Given the description of an element on the screen output the (x, y) to click on. 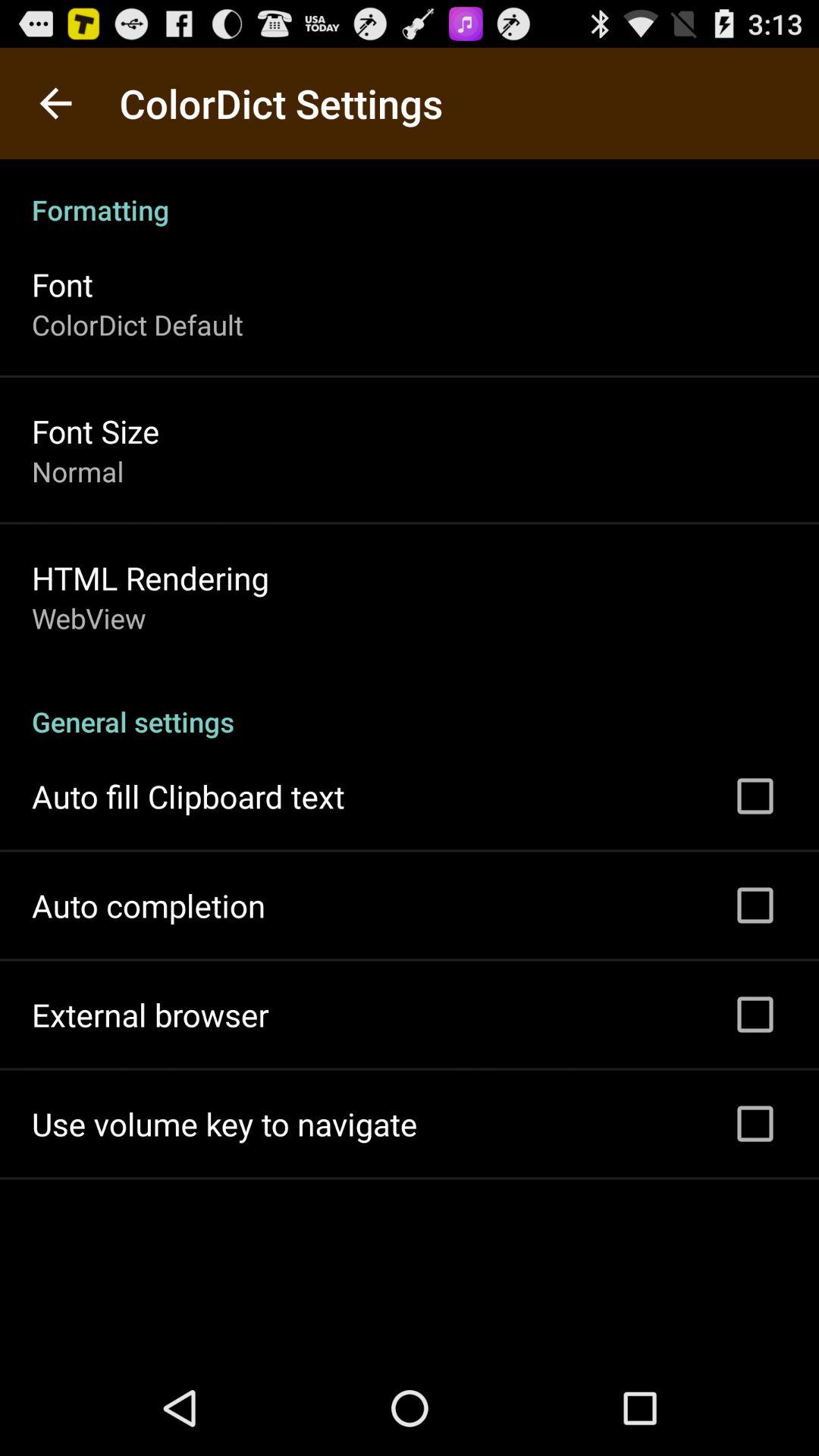
launch the app below the auto completion icon (150, 1014)
